Given the description of an element on the screen output the (x, y) to click on. 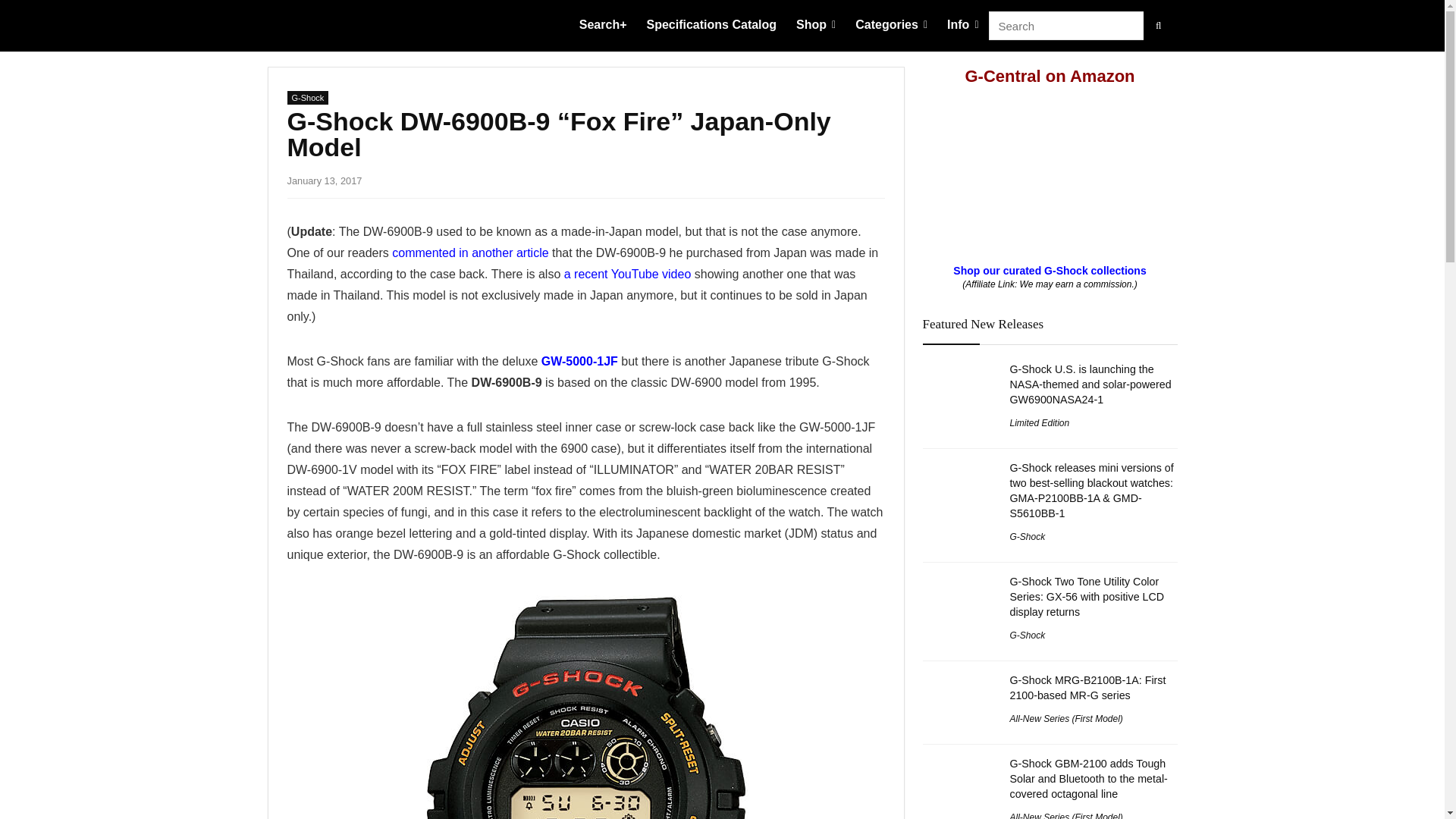
G-Shock (307, 97)
a recent YouTube video (627, 273)
Specifications Catalog (712, 25)
View all posts in G-Shock (307, 97)
GW-5000-1JF (579, 360)
Categories (891, 25)
Info (962, 25)
commented in another article (469, 252)
Shop (815, 25)
